Given the description of an element on the screen output the (x, y) to click on. 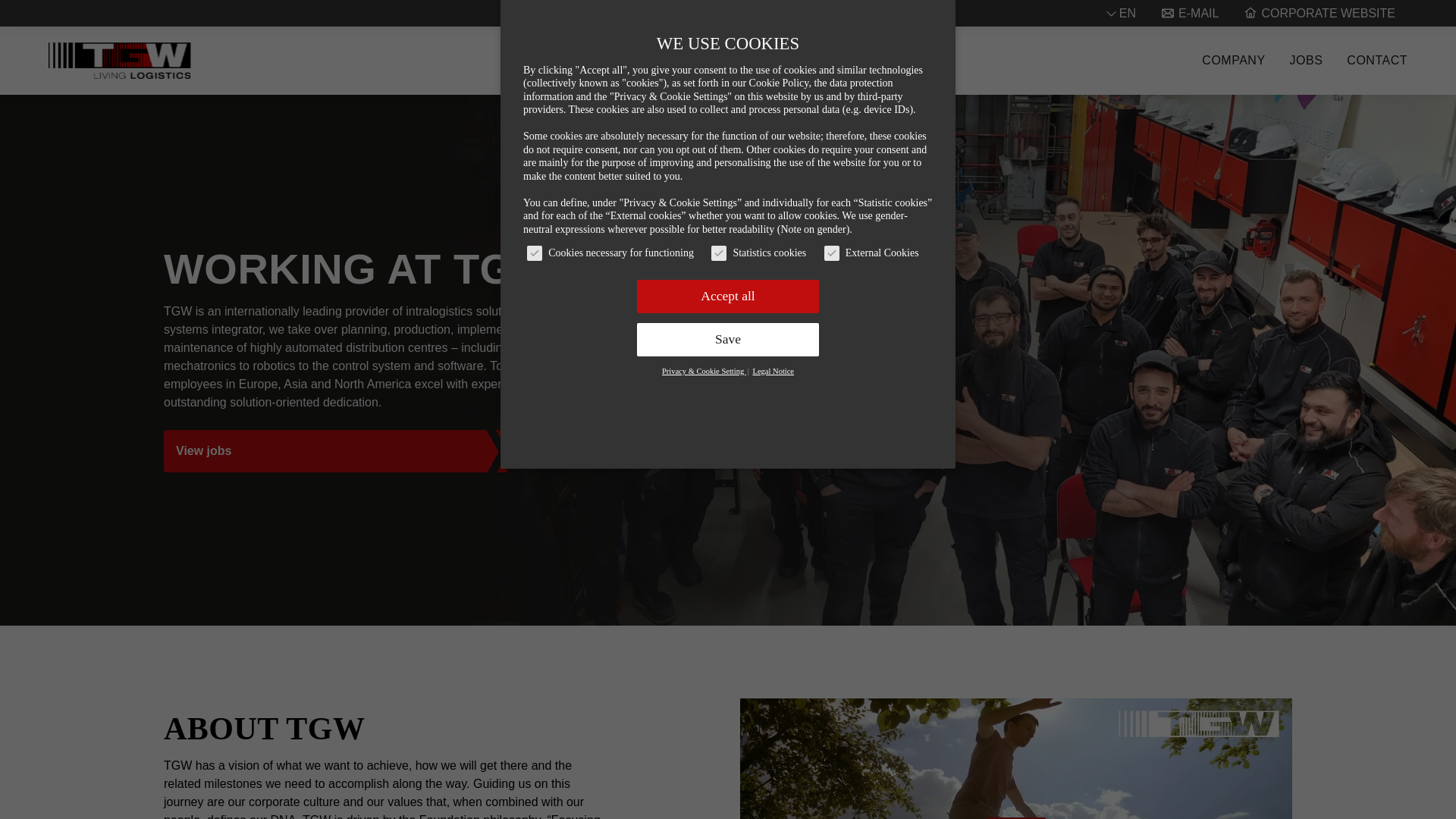
Save (727, 339)
Legal Notice (773, 370)
CORPORATE WEBSITE (1318, 13)
JOBS (1306, 60)
CONTACT (1376, 60)
COMPANY (1233, 60)
E-MAIL (1189, 13)
EN (1127, 13)
EN (1127, 13)
Accept all (727, 296)
View jobs (323, 450)
